Given the description of an element on the screen output the (x, y) to click on. 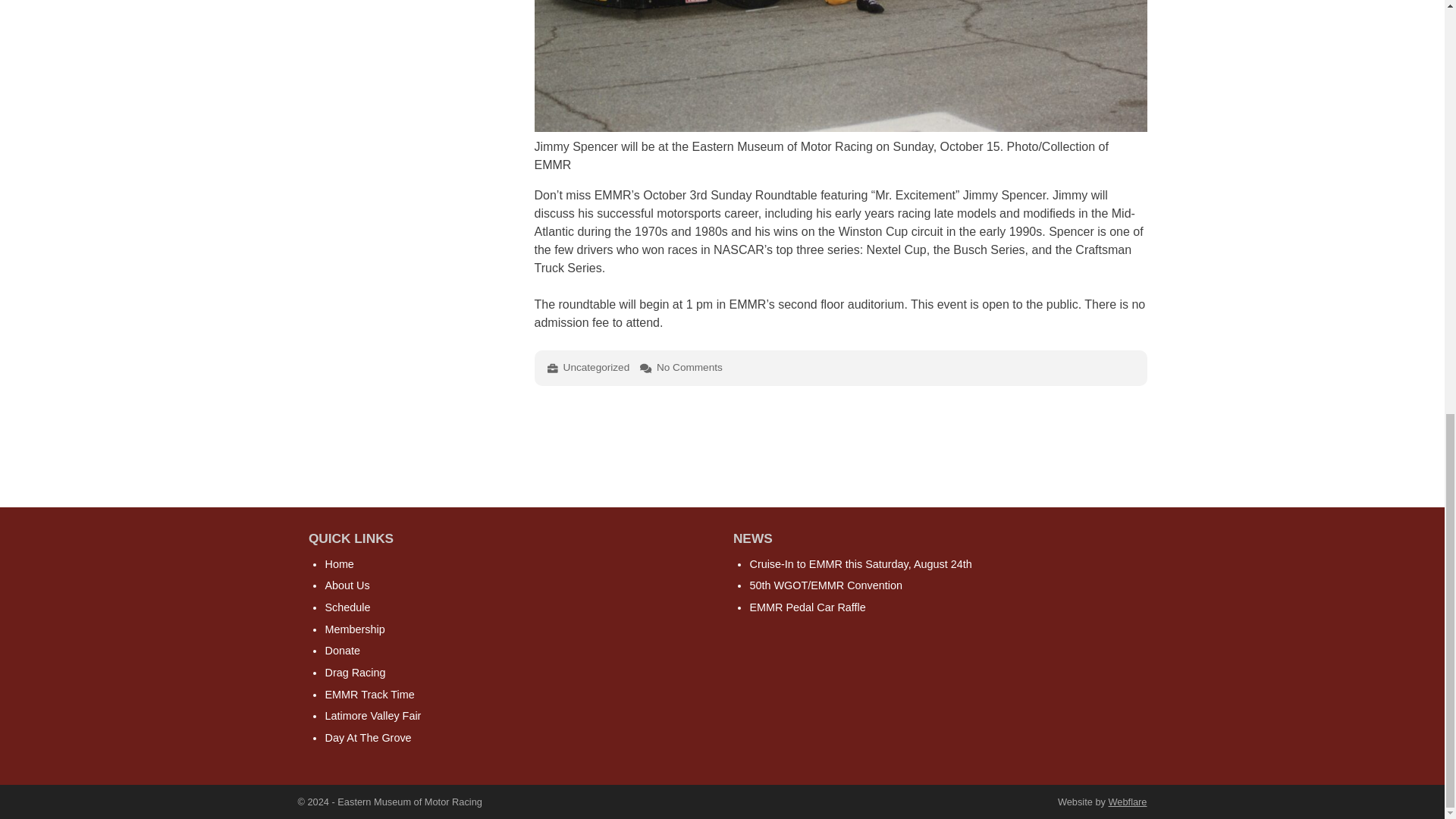
Donate (341, 650)
EMMR Track Time (368, 694)
No Comments (689, 367)
Home (338, 563)
About Us (346, 585)
Uncategorized (596, 367)
Membership (354, 629)
Drag Racing (354, 672)
Webflare (1127, 801)
Schedule (346, 607)
